Given the description of an element on the screen output the (x, y) to click on. 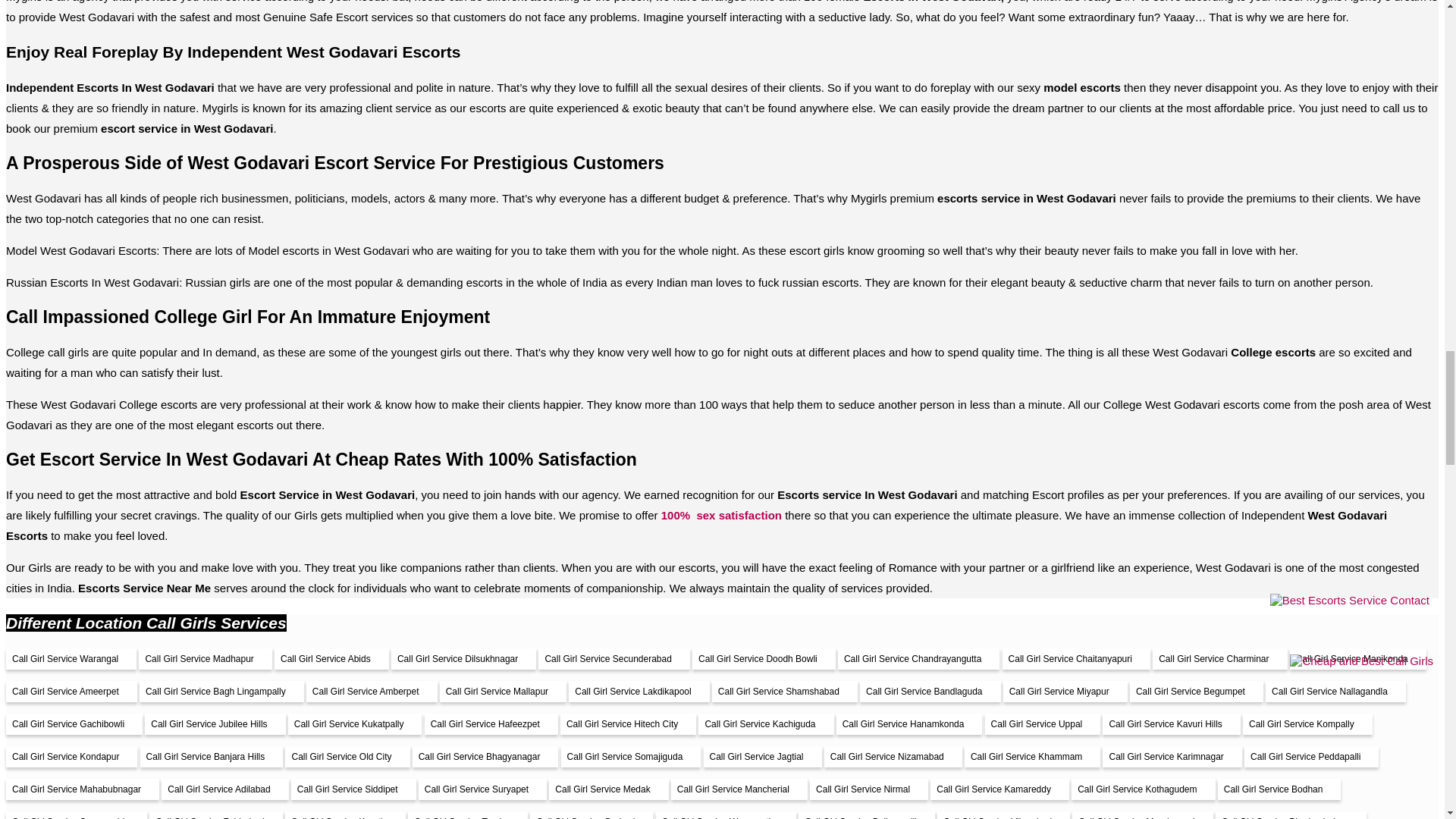
Call Girl Service Ameerpet (70, 690)
Call Girl Service Kavuri Hills (1171, 723)
Call Girl Service Begumpet (1196, 690)
Call Girl Service Bandlaguda (930, 690)
Call Girl Service Warangal (70, 658)
Call Girl Service Charminar (1220, 658)
Call Girl Service Shamshabad (784, 690)
Call Girl Service Hitech City (627, 723)
Call Girl Service Uppal (1042, 723)
Call Girl Service Lakdikapool (639, 690)
Call Girl Service Secunderabad (613, 658)
Call Girl Service Abids (331, 658)
Call Girl Service Hanamkonda (908, 723)
Call Girl Service Gachibowli (73, 723)
Call Girl Service Hafeezpet (491, 723)
